Given the description of an element on the screen output the (x, y) to click on. 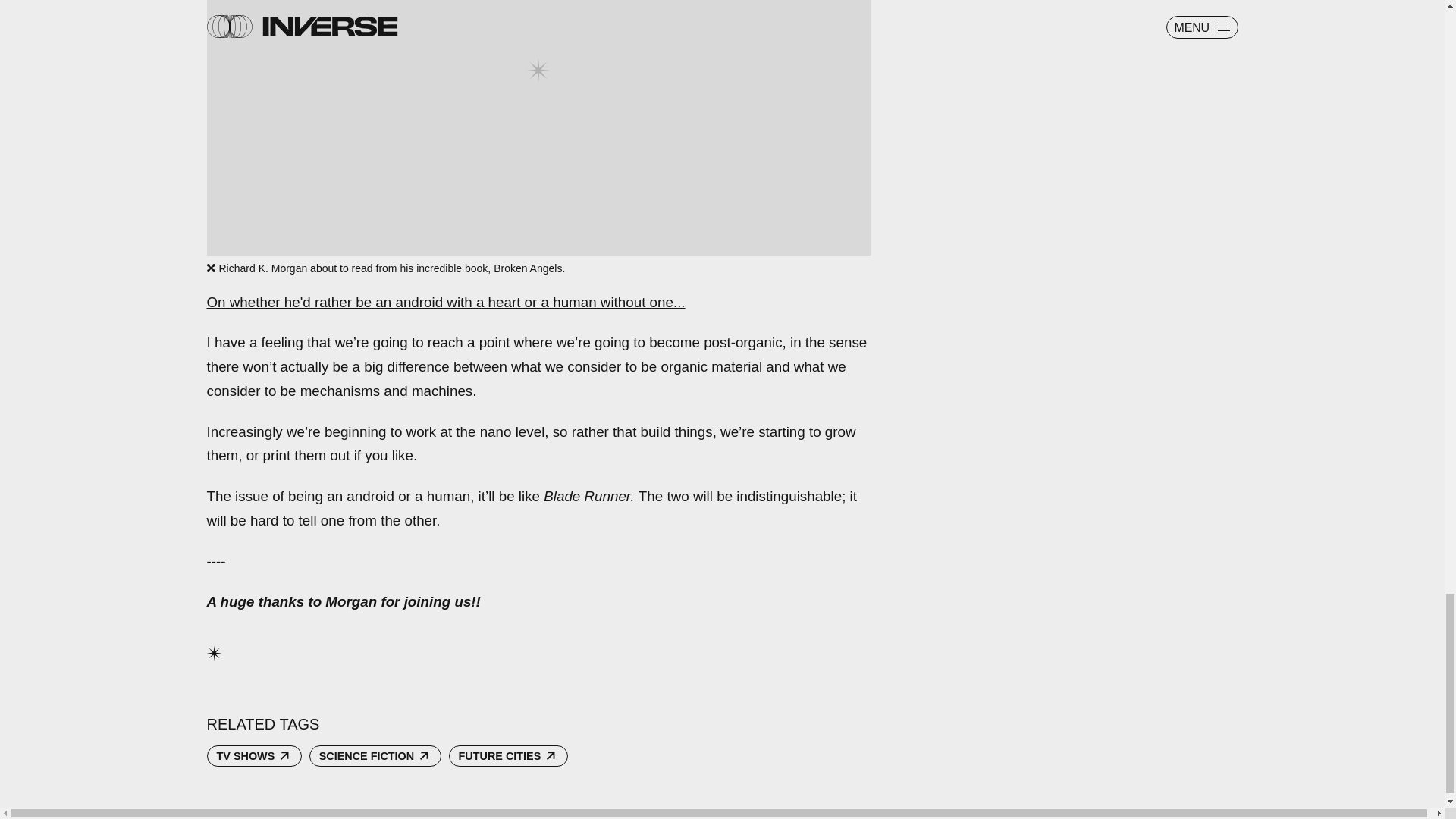
SCIENCE FICTION (374, 755)
TV SHOWS (253, 755)
FUTURE CITIES (507, 755)
